Given the description of an element on the screen output the (x, y) to click on. 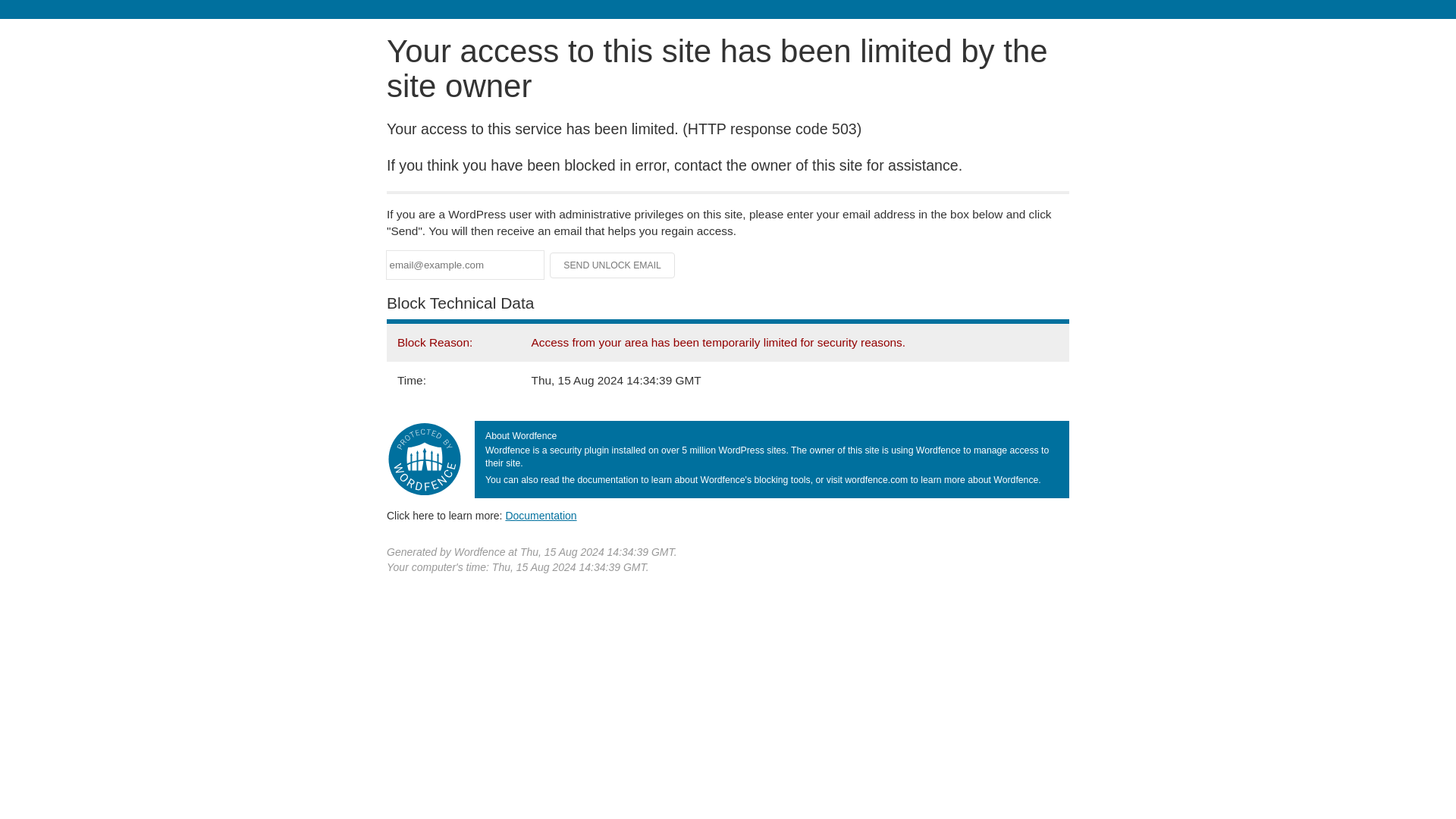
Send Unlock Email (612, 265)
Send Unlock Email (612, 265)
Documentation (540, 515)
